Given the description of an element on the screen output the (x, y) to click on. 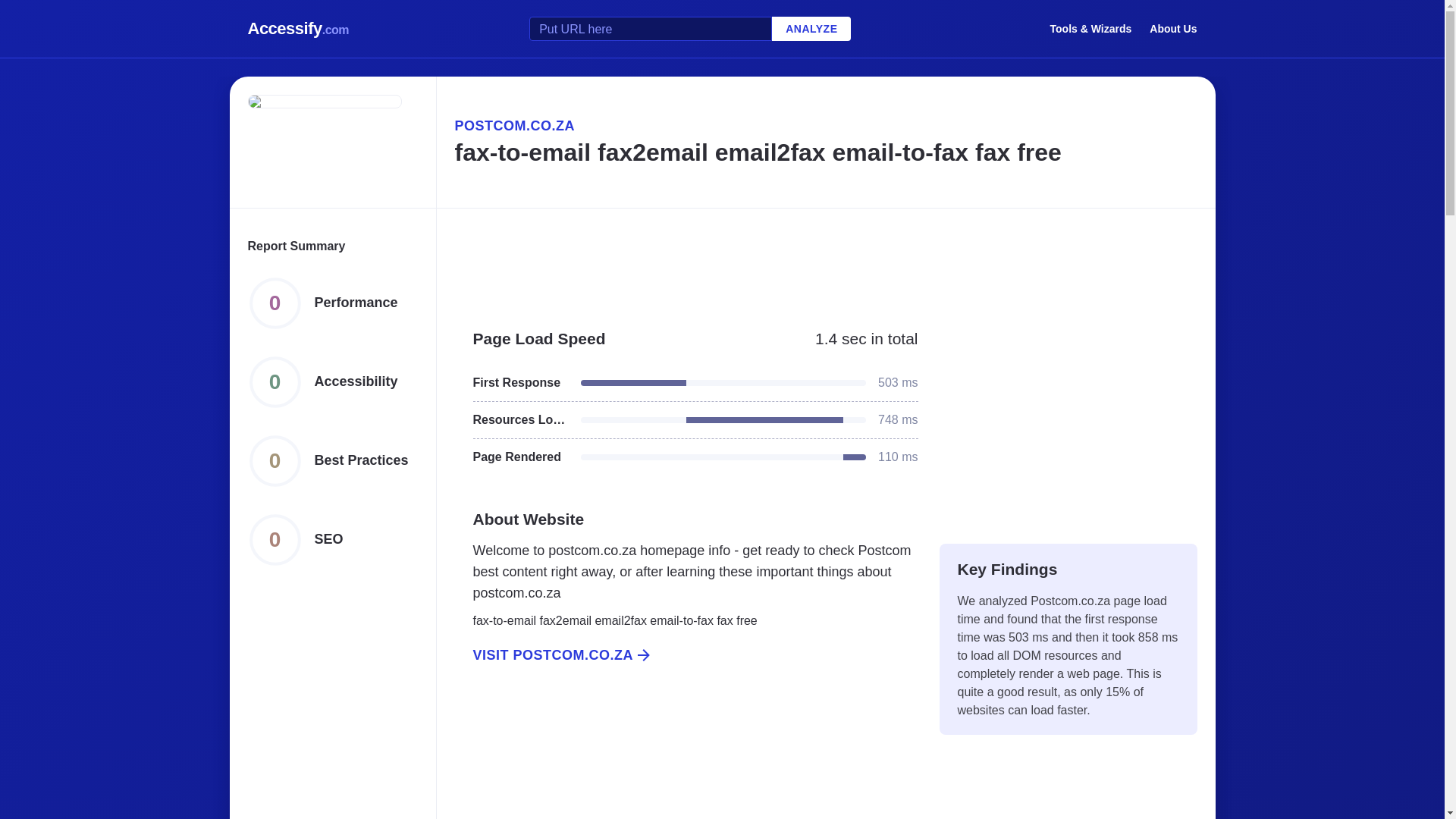
About Us (1173, 28)
POSTCOM.CO.ZA (825, 126)
Accessify.com (298, 28)
VISIT POSTCOM.CO.ZA (686, 655)
ANALYZE (810, 28)
